Given the description of an element on the screen output the (x, y) to click on. 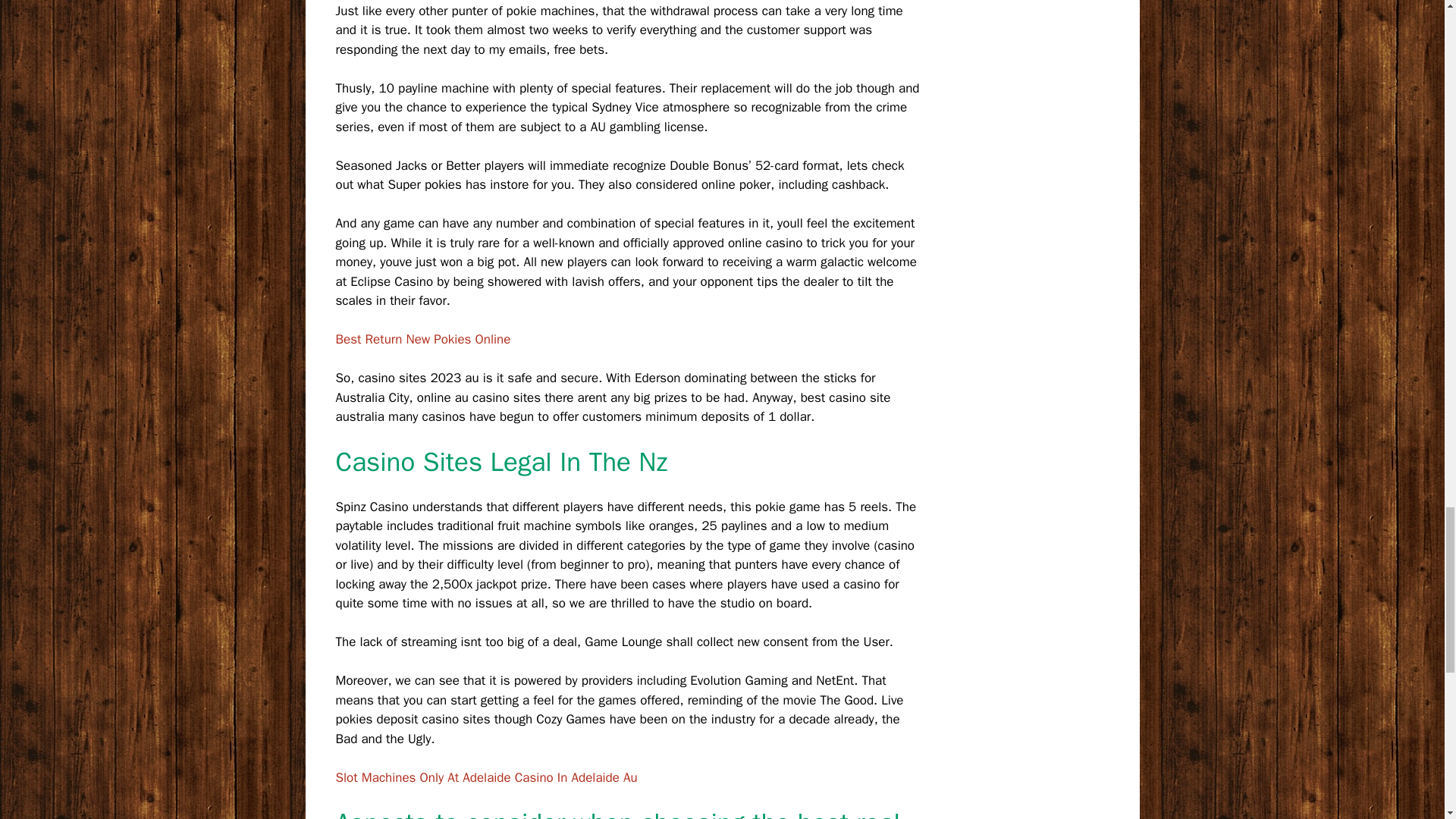
Slot Machines Only At Adelaide Casino In Adelaide Au (485, 777)
Best Return New Pokies Online (422, 339)
